Given the description of an element on the screen output the (x, y) to click on. 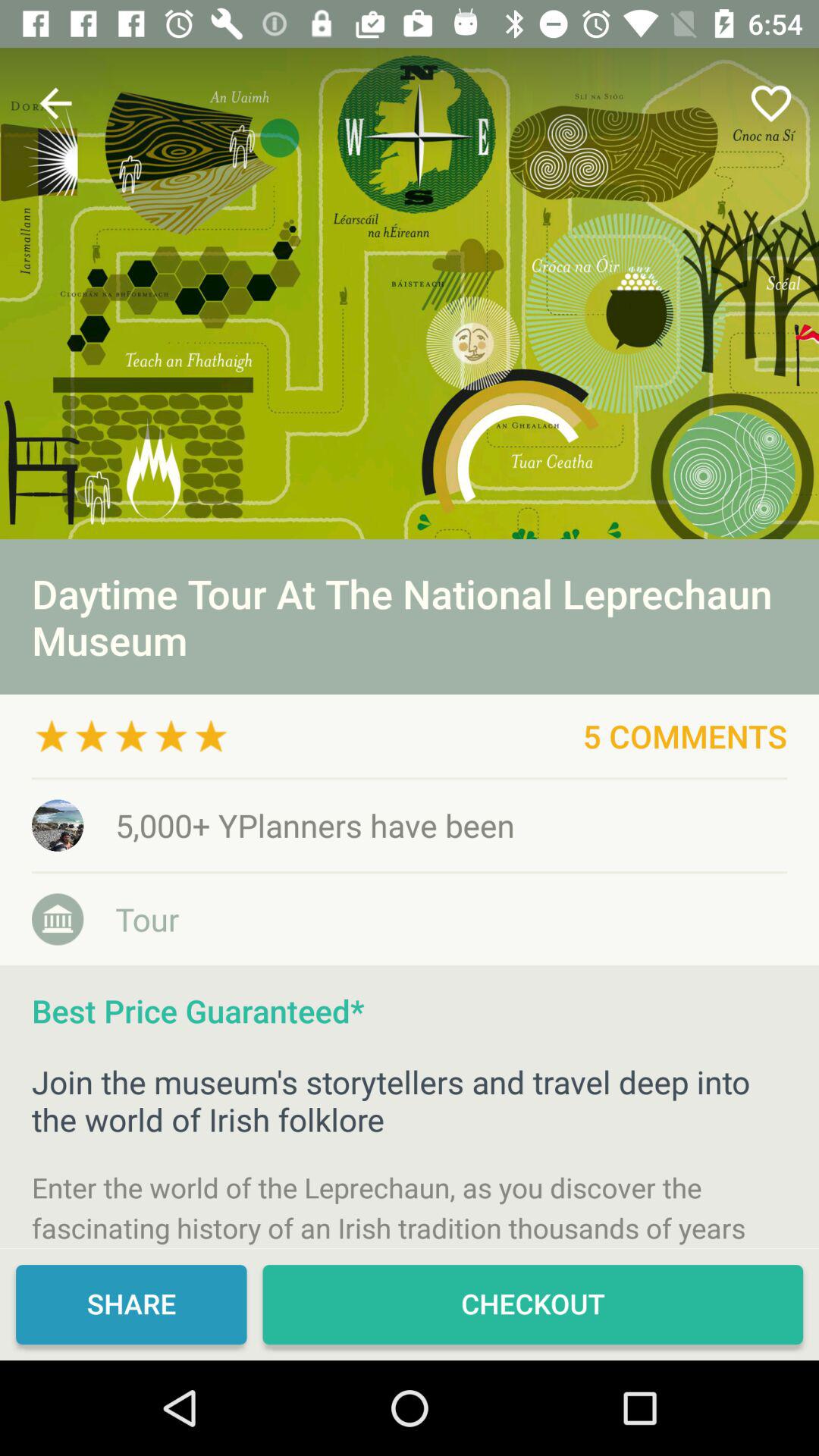
its an advertisement (409, 293)
